Given the description of an element on the screen output the (x, y) to click on. 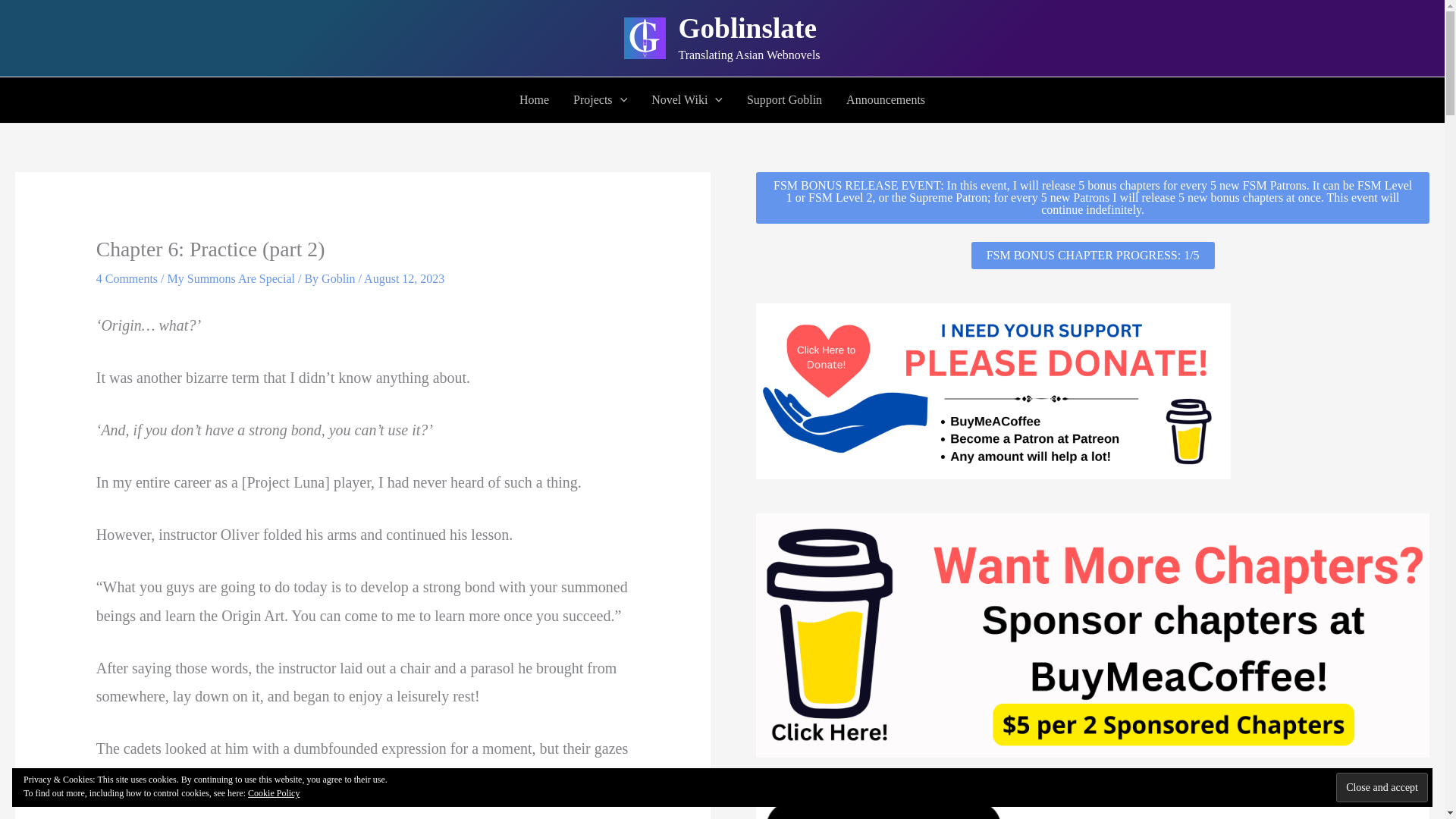
Projects (599, 99)
Support Goblin (784, 99)
Close and accept (1382, 787)
Announcements (885, 99)
Goblinslate (747, 28)
Novel Wiki (687, 99)
Home (533, 99)
View all posts by Goblin (339, 277)
